Given the description of an element on the screen output the (x, y) to click on. 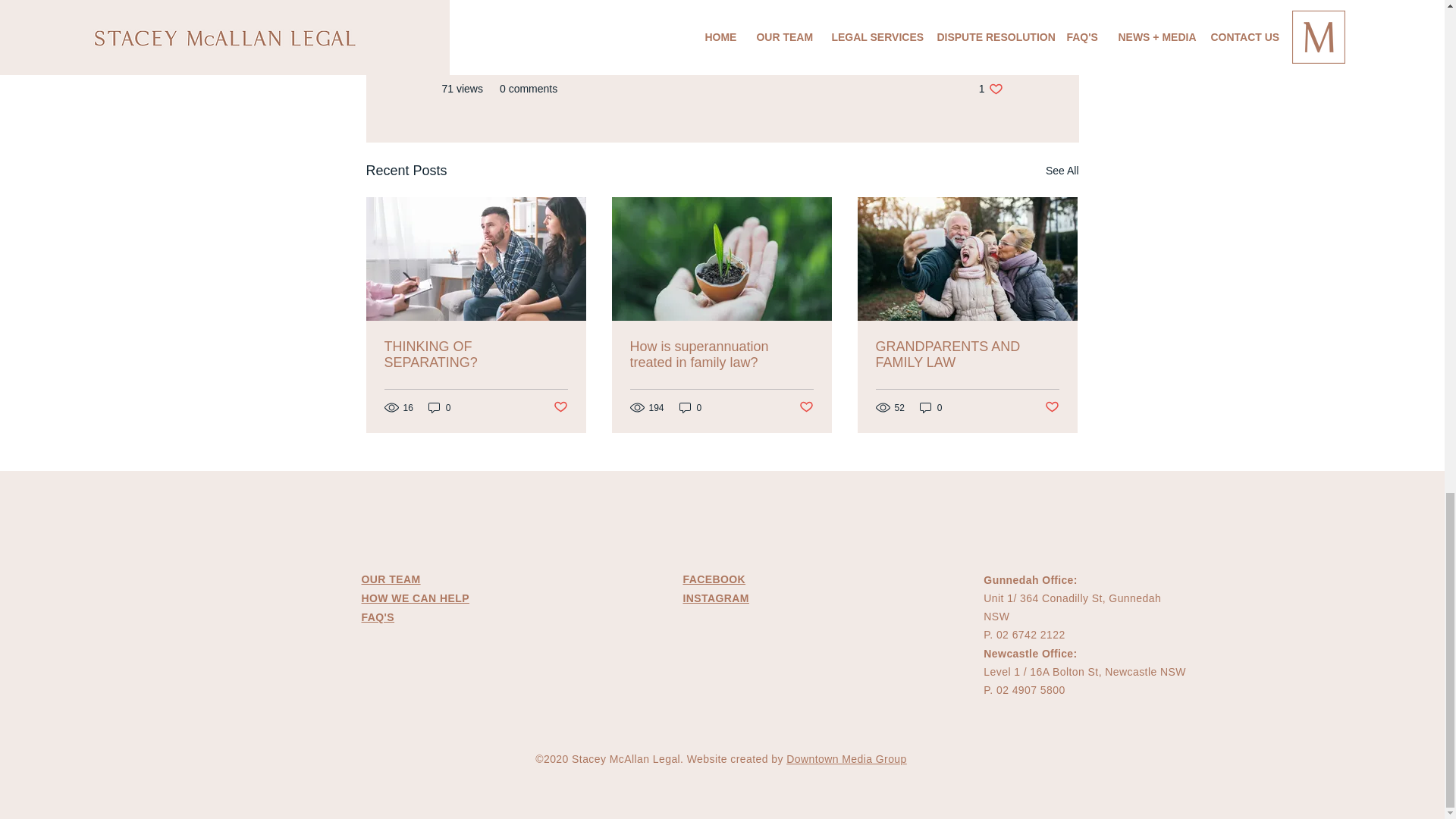
Post not marked as liked (560, 407)
Family Law (976, 42)
FACEBOOK (713, 579)
How is superannuation treated in family law? (720, 355)
0 (690, 407)
INSTAGRAM (715, 598)
0 (930, 407)
Downtown Media Group (846, 758)
THINKING OF SEPARATING? (475, 355)
Post not marked as liked (806, 407)
OUR TEAM (390, 579)
0 (439, 407)
FAQ'S (377, 617)
Post not marked as liked (1052, 407)
